Given the description of an element on the screen output the (x, y) to click on. 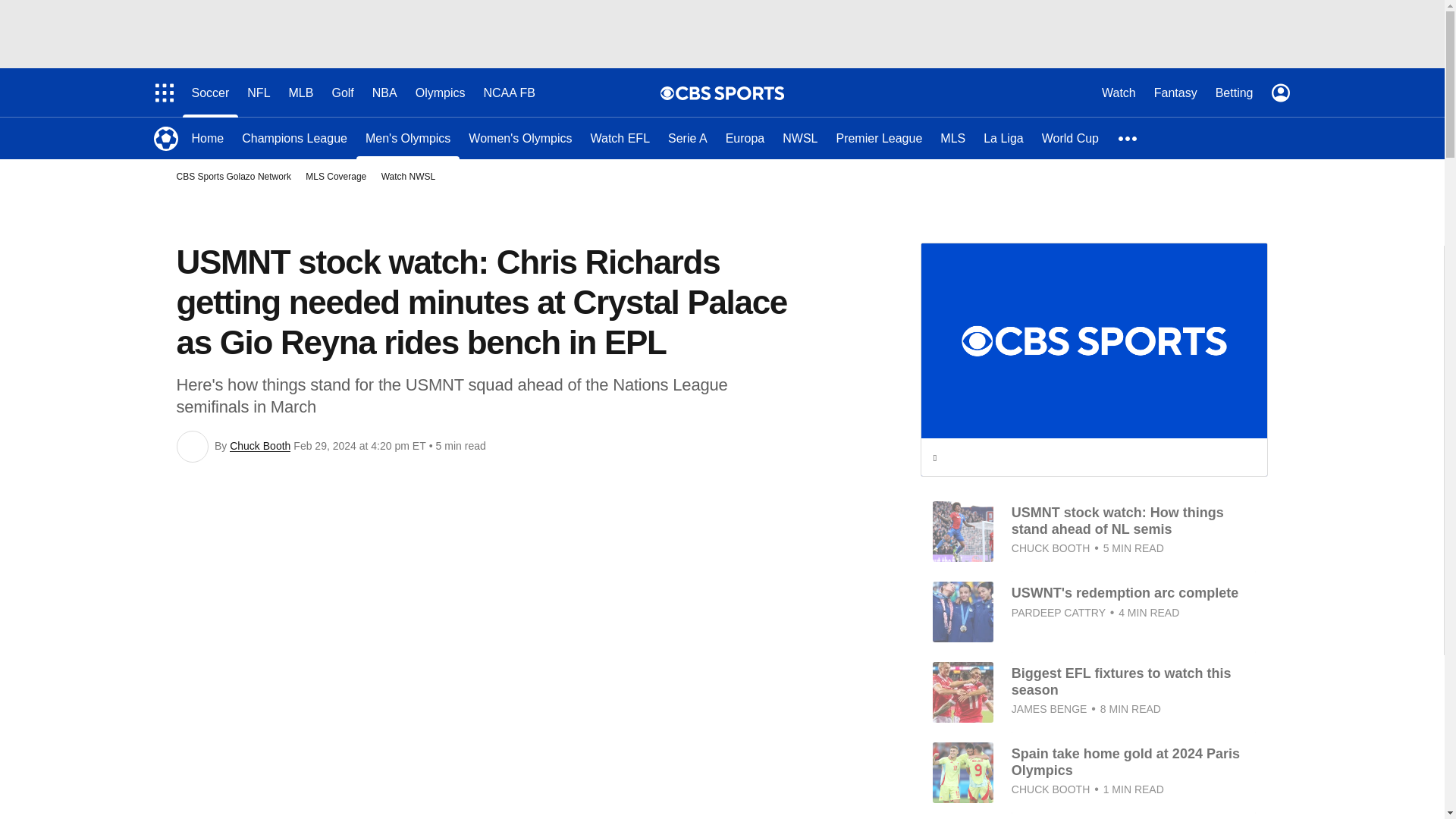
Soccer (210, 92)
CBS Logo (729, 92)
CBS Eye (667, 92)
SportsSoccer (164, 137)
